Given the description of an element on the screen output the (x, y) to click on. 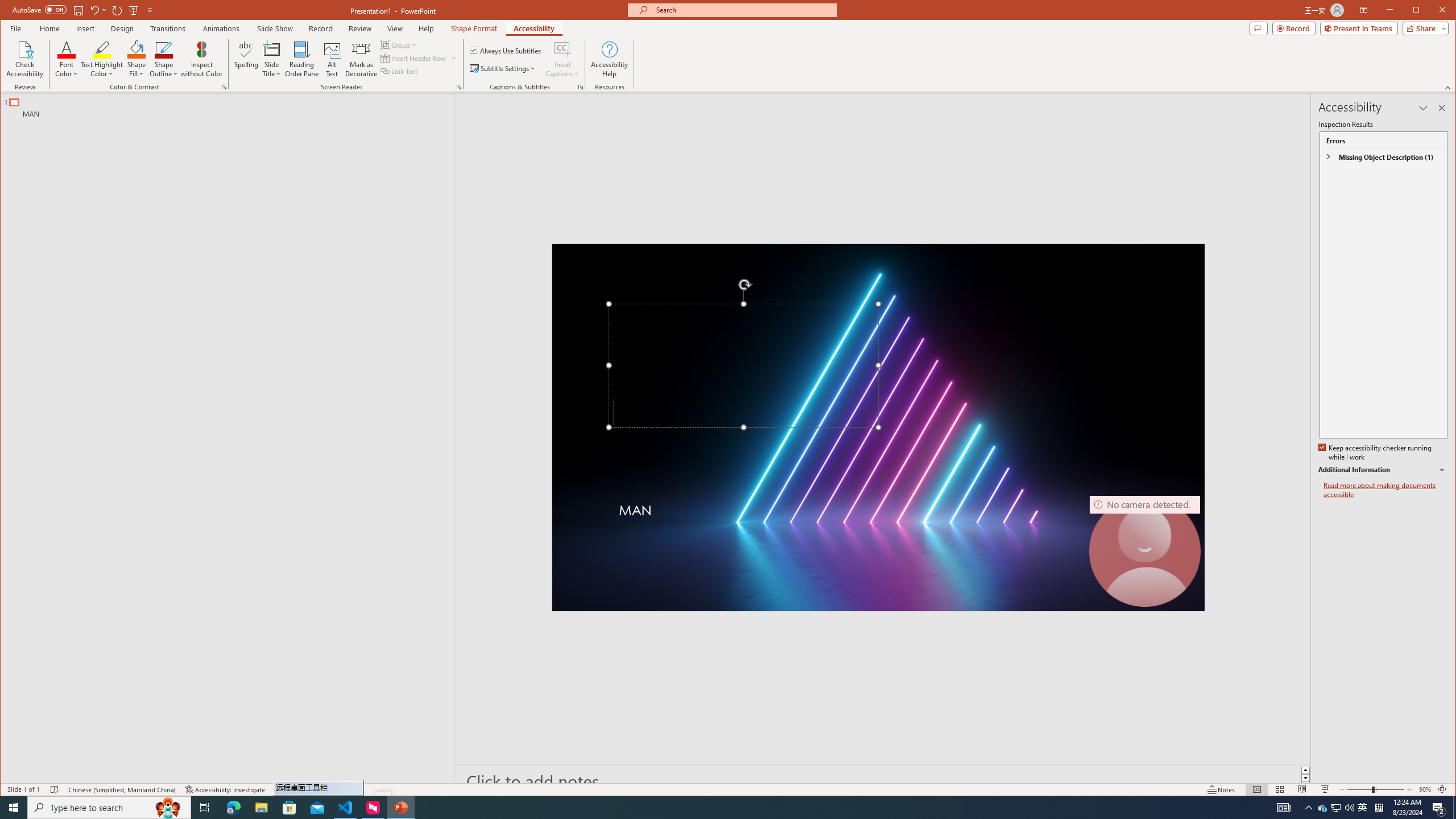
Color & Contrast (223, 86)
Insert Captions (562, 59)
Microsoft Edge (233, 807)
